Given the description of an element on the screen output the (x, y) to click on. 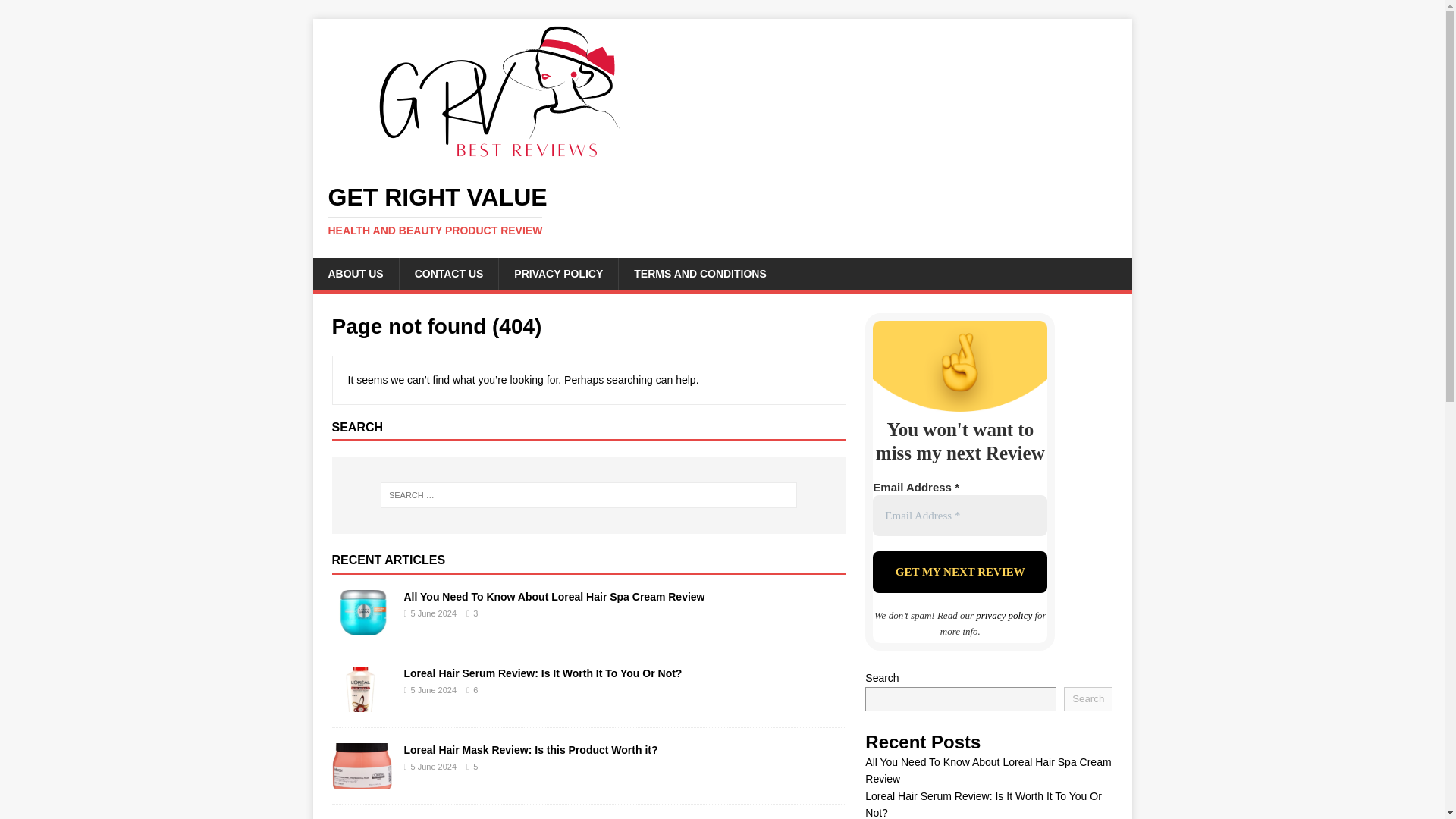
ABOUT US (355, 273)
Get Right Value (502, 157)
GET MY NEXT REVIEW (959, 571)
Search (1088, 699)
All You Need To Know About Loreal Hair Spa Cream Review (553, 596)
Loreal Hair Mask Review: Is this Product Worth it? (530, 749)
Loreal Hair Serum Review: Is It Worth It To You Or Not? (542, 673)
Search (56, 11)
Get Right Value (721, 210)
Loreal Hair Serum Review: Is It Worth It To You Or Not? (362, 703)
PRIVACY POLICY (557, 273)
privacy policy (1003, 614)
All You Need To Know About Loreal Hair Spa Cream Review (553, 596)
TERMS AND CONDITIONS (698, 273)
